Given the description of an element on the screen output the (x, y) to click on. 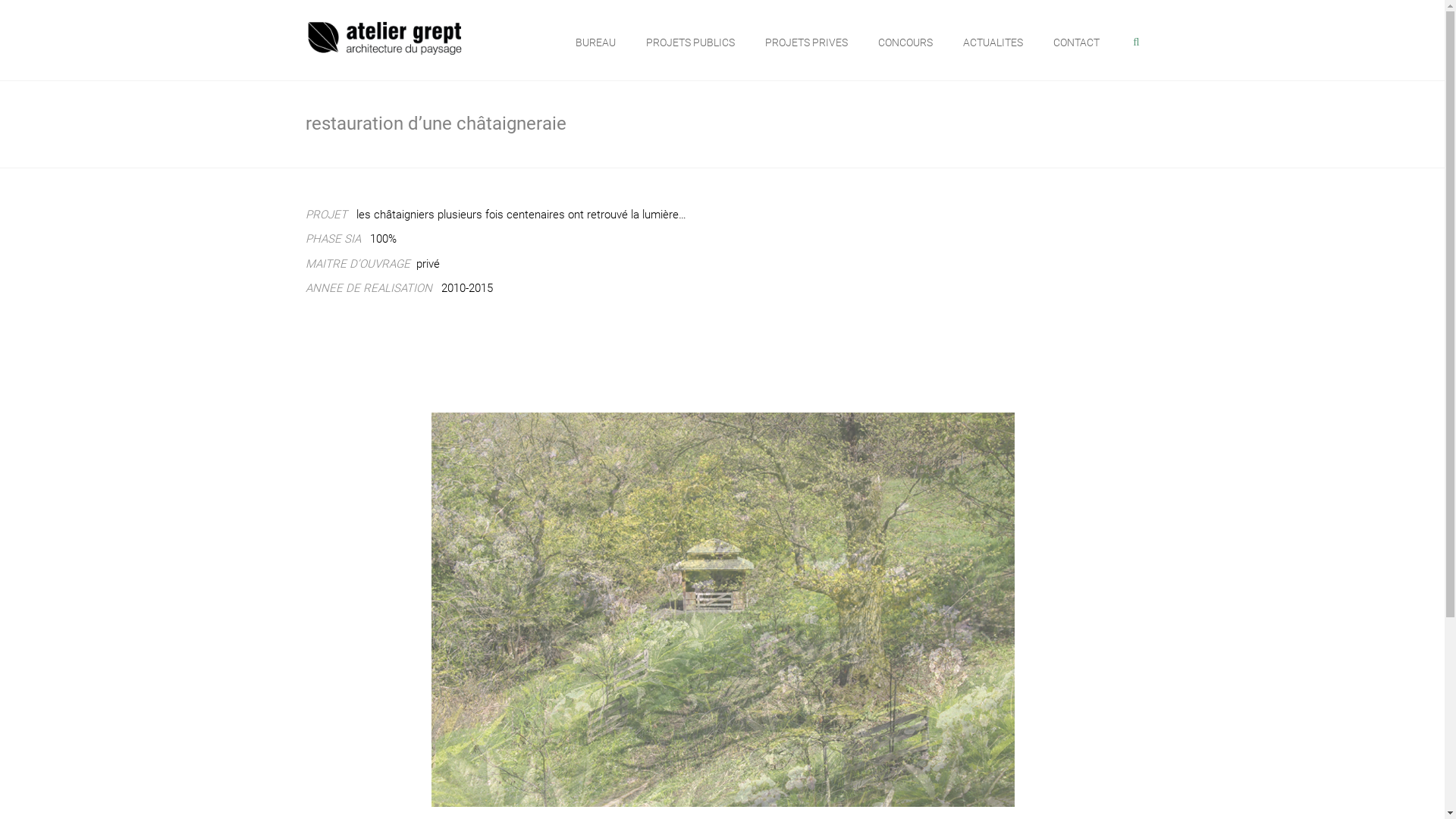
ACTUALITES Element type: text (992, 42)
CONTACT Element type: text (1076, 42)
CONCOURS Element type: text (905, 42)
BUREAU Element type: text (595, 42)
PROJETS PRIVES Element type: text (806, 42)
PROJETS PUBLICS Element type: text (690, 42)
